Given the description of an element on the screen output the (x, y) to click on. 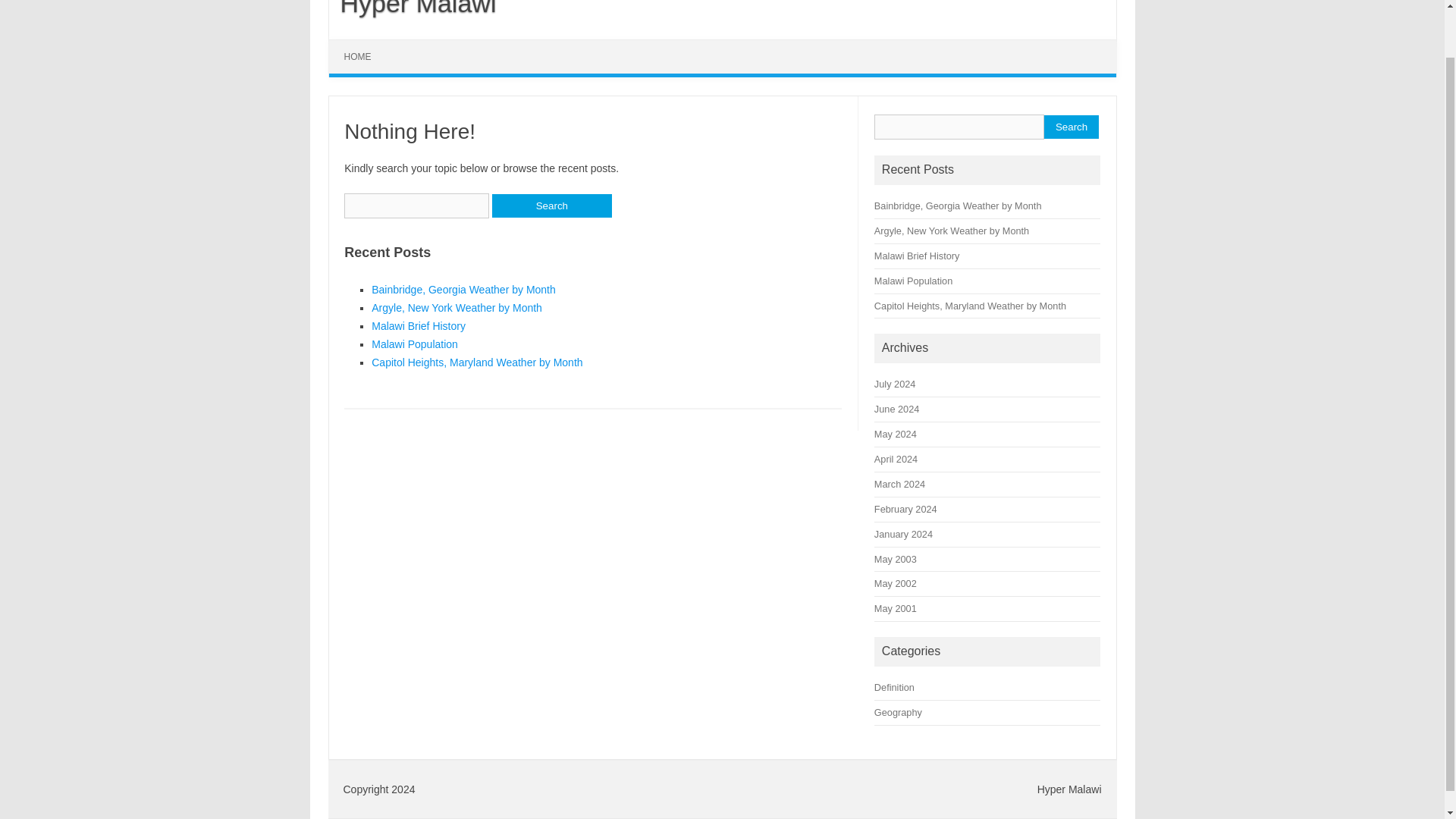
Skip to content (363, 44)
March 2024 (899, 483)
Malawi Population (414, 344)
Bainbridge, Georgia Weather by Month (463, 289)
May 2003 (896, 559)
June 2024 (896, 408)
Malawi Population (913, 280)
Argyle, New York Weather by Month (456, 307)
Malawi Brief History (917, 255)
May 2002 (896, 583)
